Given the description of an element on the screen output the (x, y) to click on. 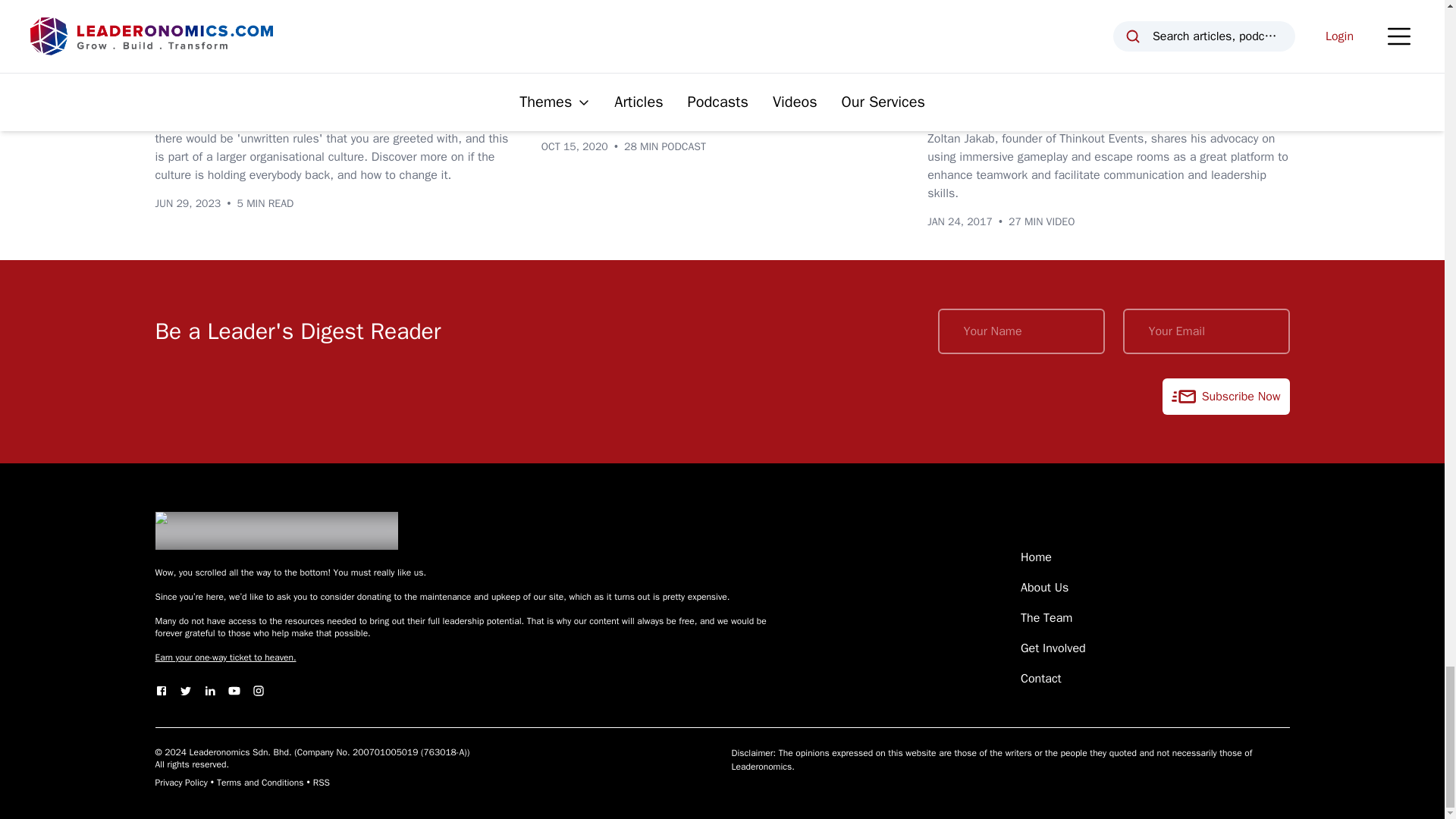
Leadership (648, 55)
What Part are You Playing? (261, 88)
Article (181, 55)
Futuristic Enterprise EP5: Rashvin Pal Singh, Group CEO of B (718, 101)
Podcast (572, 55)
Leadership (253, 55)
